Given the description of an element on the screen output the (x, y) to click on. 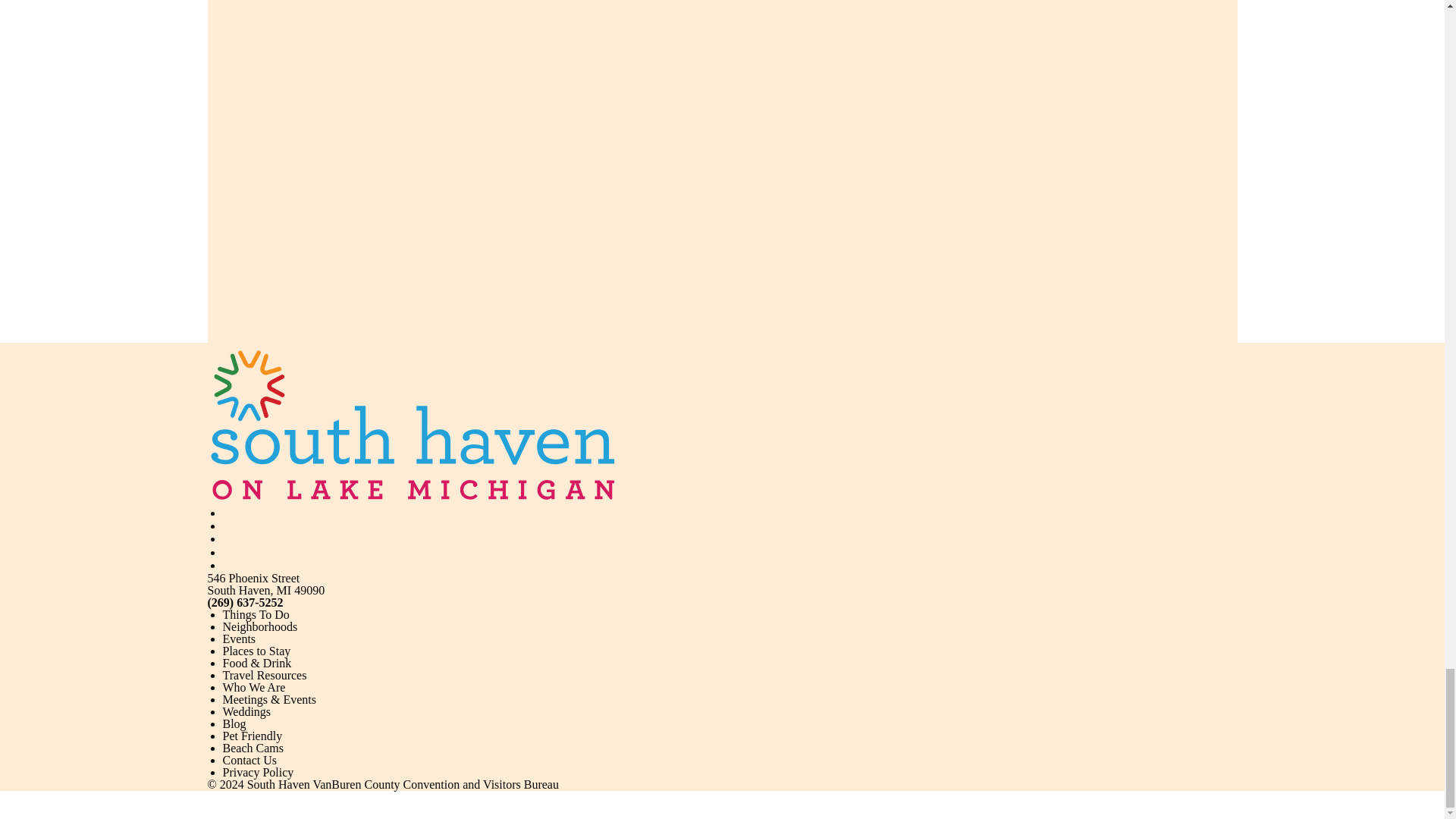
Things To Do (255, 614)
Neighborhoods (260, 626)
